Given the description of an element on the screen output the (x, y) to click on. 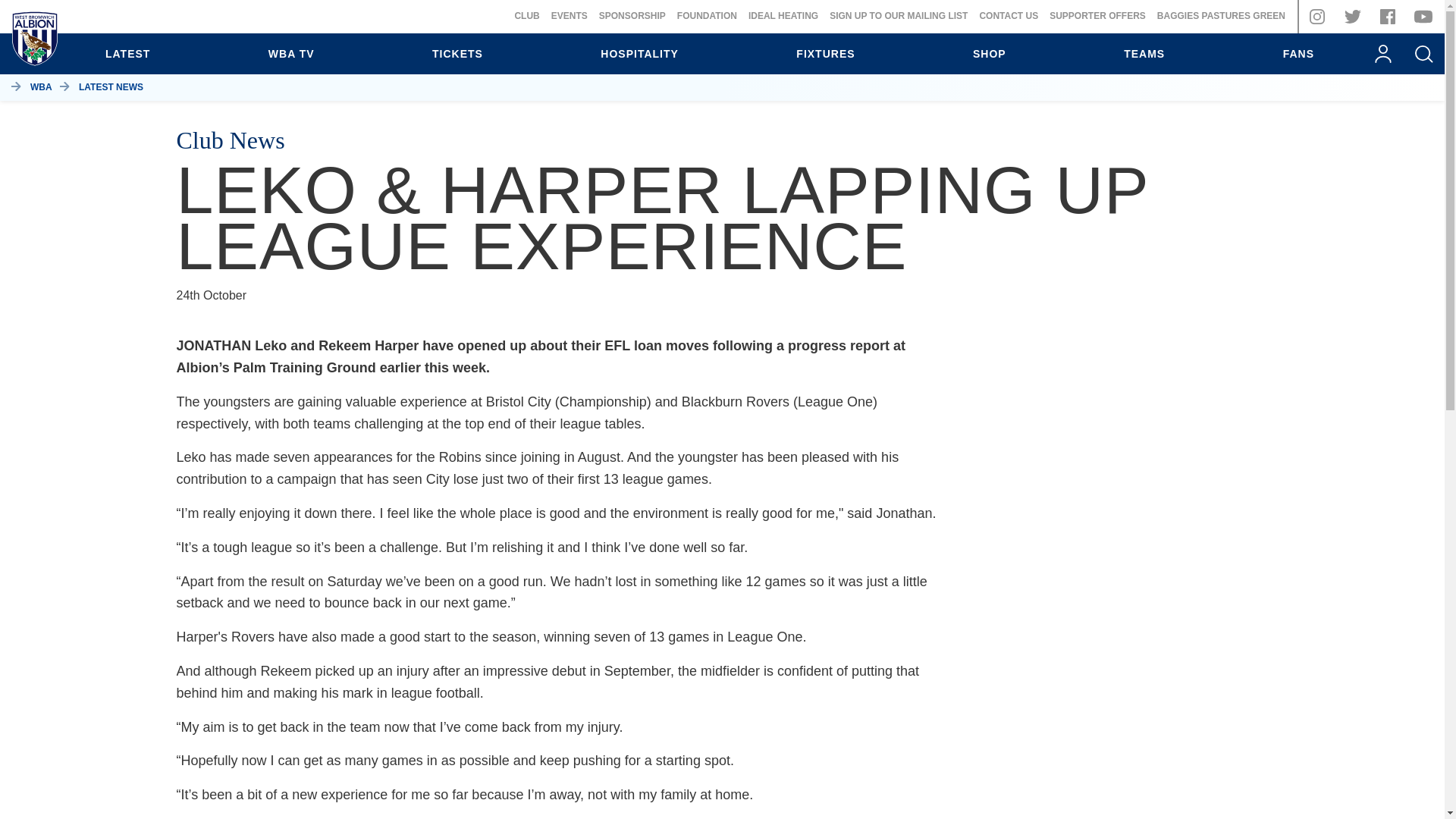
EVENTS (569, 15)
IDEAL HEATING (783, 15)
BAGGIES PASTURES GREEN (1221, 15)
Latest (127, 53)
FOUNDATION (706, 15)
SUPPORTER OFFERS (1097, 15)
The Albion Foundation (706, 15)
CONTACT US (1008, 15)
SPONSORSHIP (631, 15)
SIGN UP TO OUR MAILING LIST (898, 15)
CLUB (525, 15)
